Given the description of an element on the screen output the (x, y) to click on. 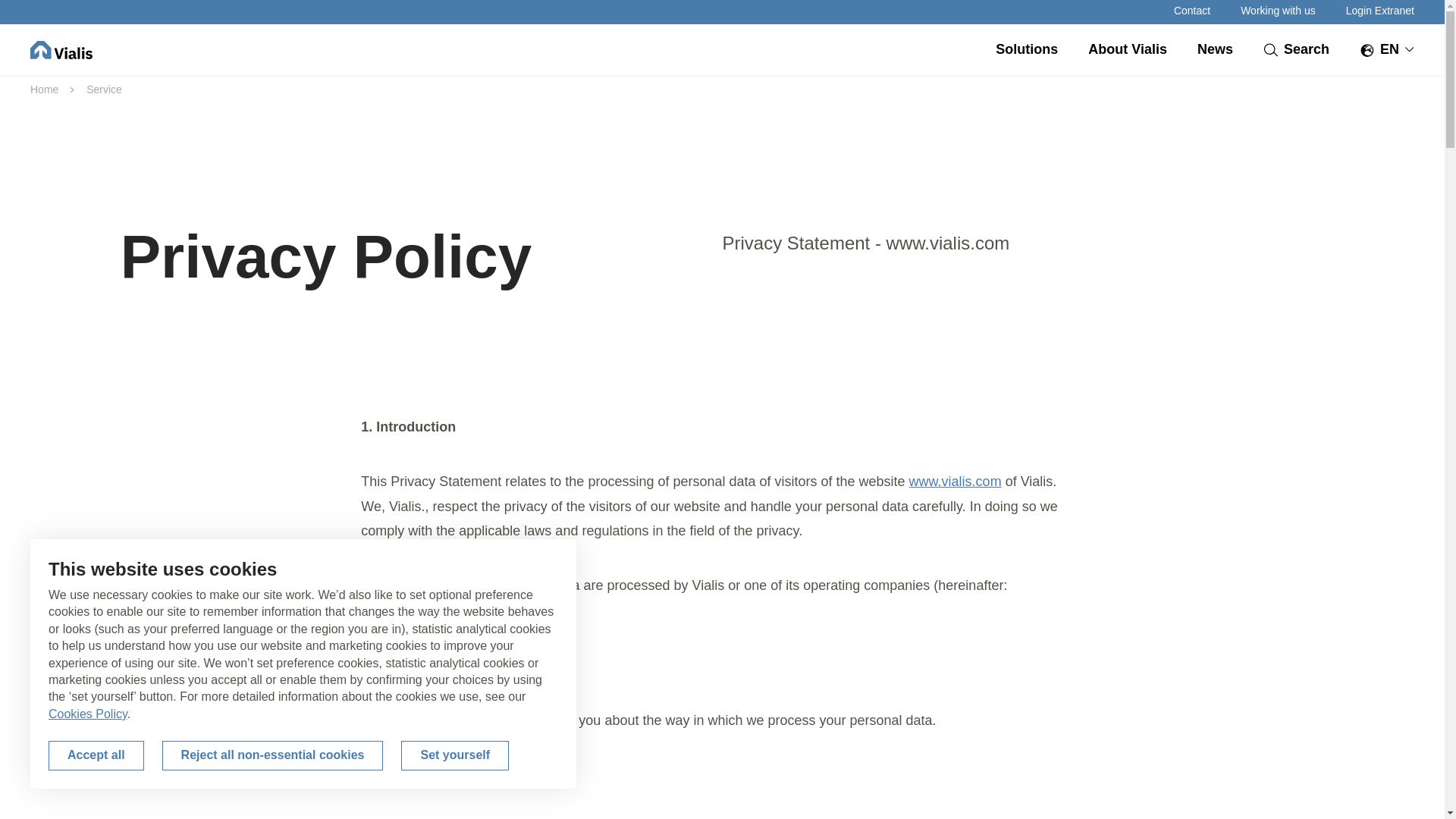
EN (1386, 49)
Solutions (1026, 50)
About Vialis (1127, 50)
Search (1296, 49)
Login Extranet (1379, 10)
Working with us (1278, 10)
www.vialis.com (954, 481)
Contact (1191, 10)
Home (44, 89)
